Given the description of an element on the screen output the (x, y) to click on. 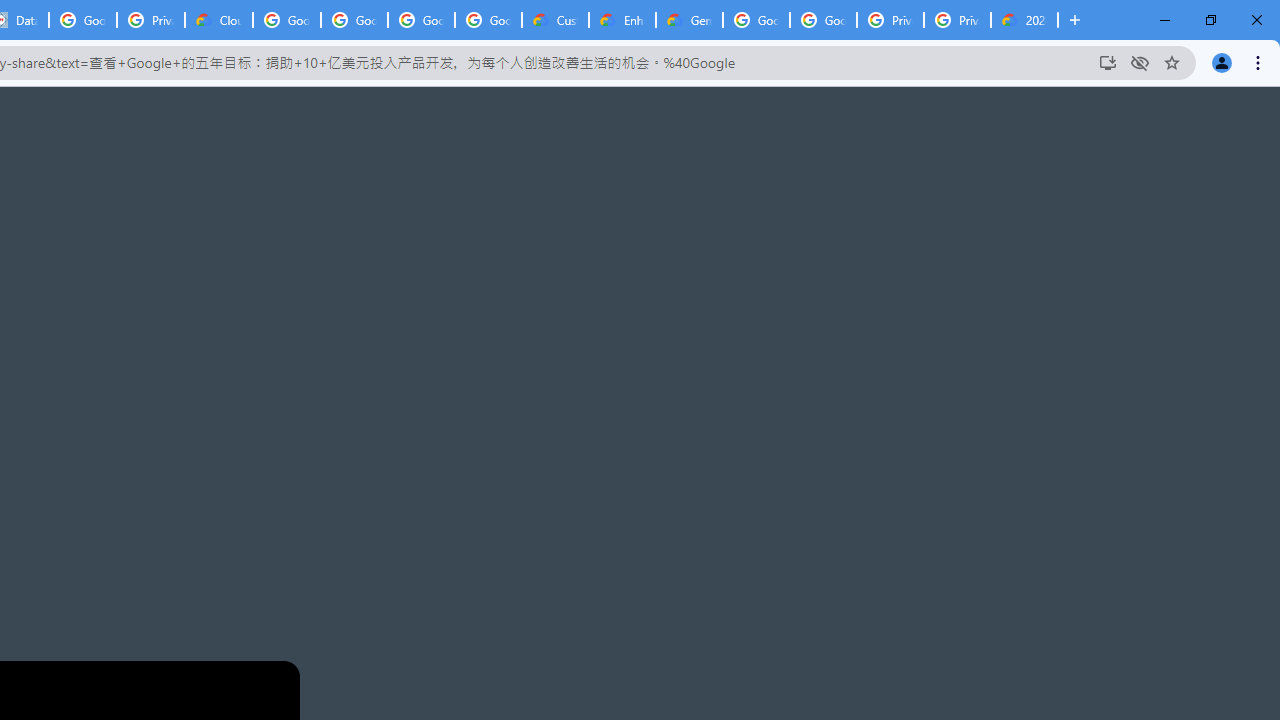
Third-party cookies blocked (1139, 62)
Install X (1107, 62)
Google Workspace - Specific Terms (420, 20)
Google Cloud Platform (823, 20)
Gemini for Business and Developers | Google Cloud (689, 20)
Google Cloud Platform (756, 20)
